Given the description of an element on the screen output the (x, y) to click on. 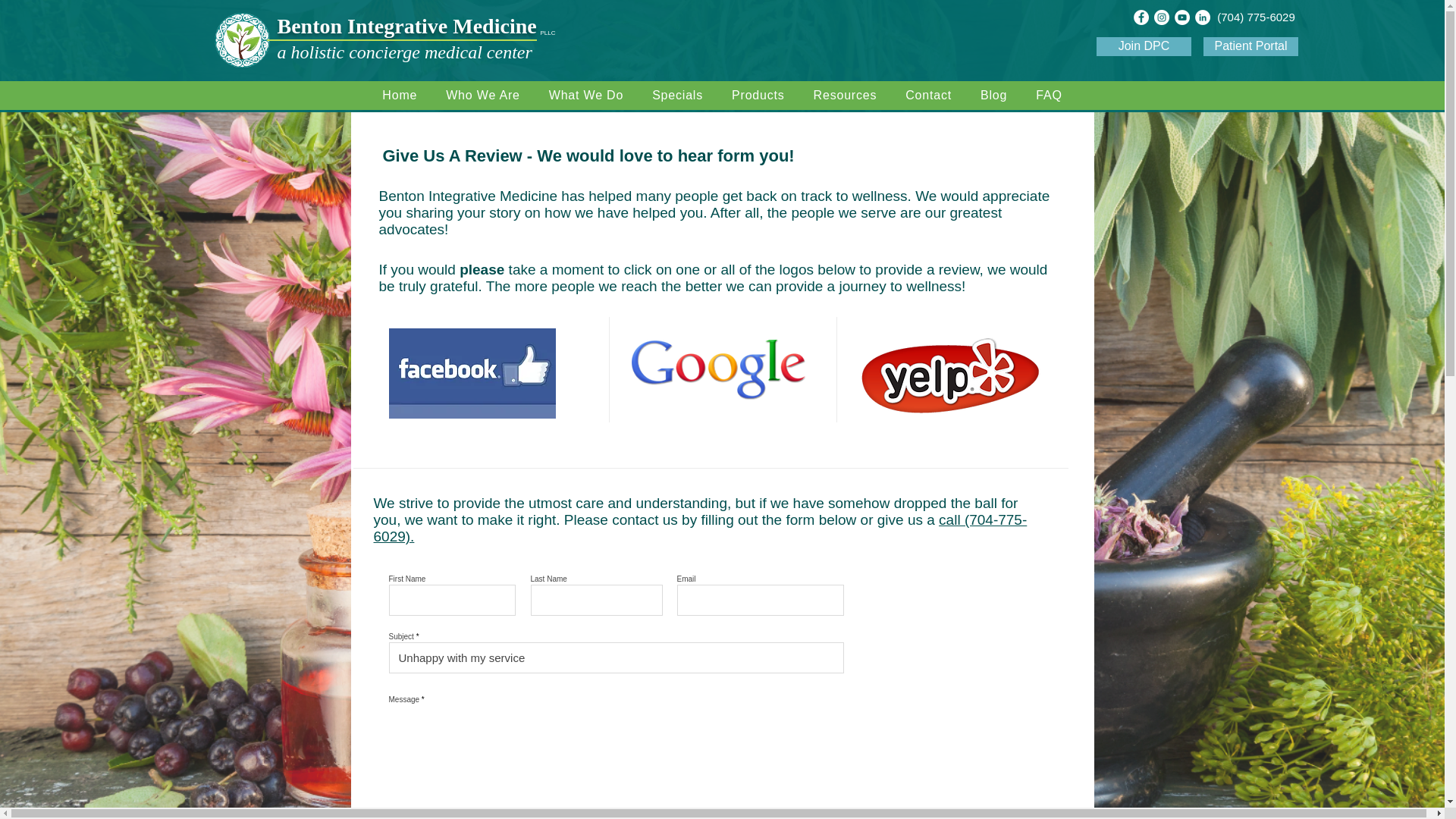
Who We Are (482, 95)
Home (399, 95)
BIM Logo Symbol (241, 39)
Benton Integrative Medicine (407, 25)
Patient Portal (1251, 46)
Join DPC (1143, 46)
